Given the description of an element on the screen output the (x, y) to click on. 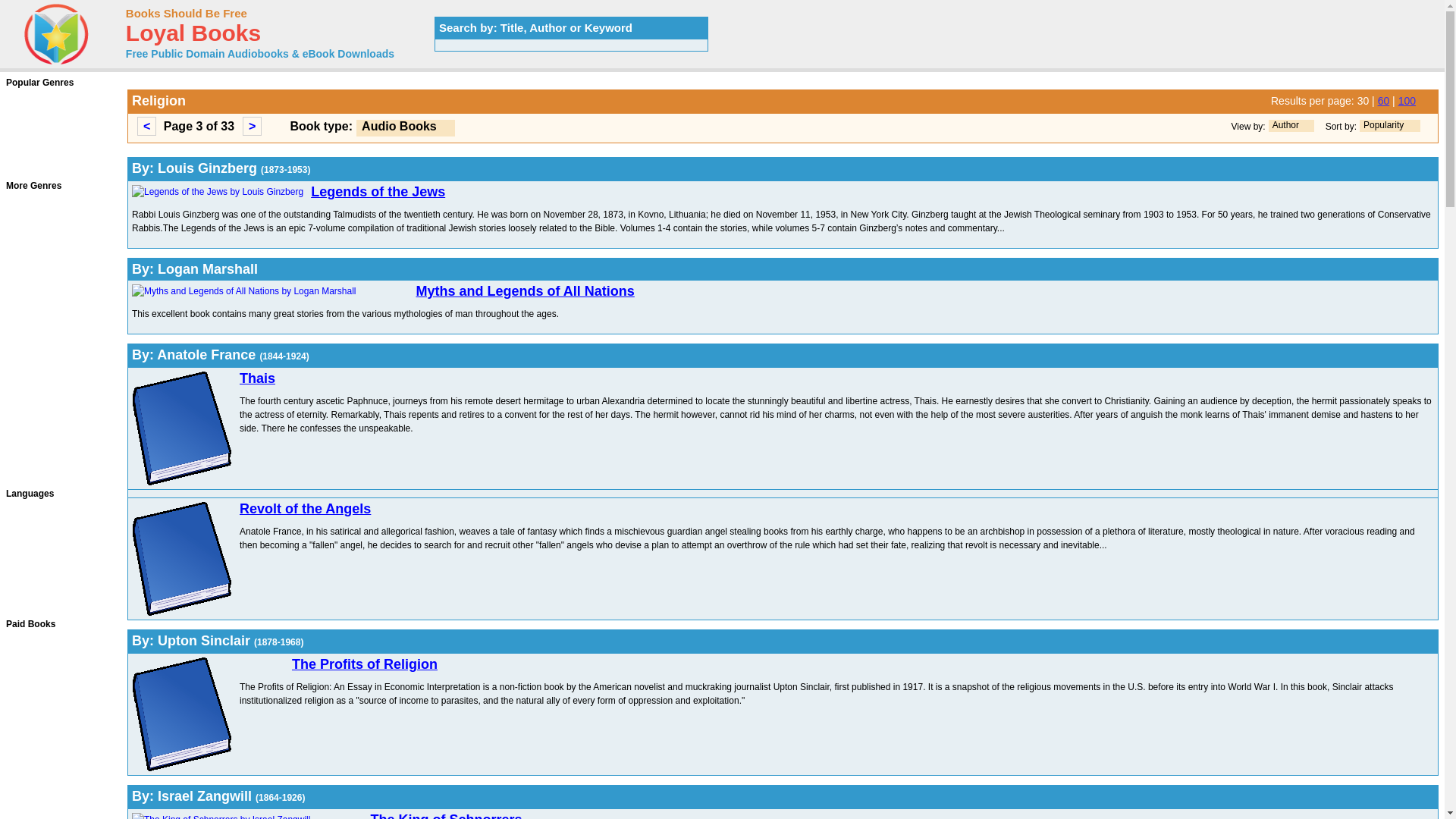
Audio Books (398, 126)
Audio Books (405, 127)
Author (1291, 125)
Author (1285, 124)
Revolt of the Angels (305, 508)
100 (1406, 101)
Popularity (1382, 124)
Legends of the Jews (378, 191)
Thais (257, 378)
60 (1383, 101)
